Given the description of an element on the screen output the (x, y) to click on. 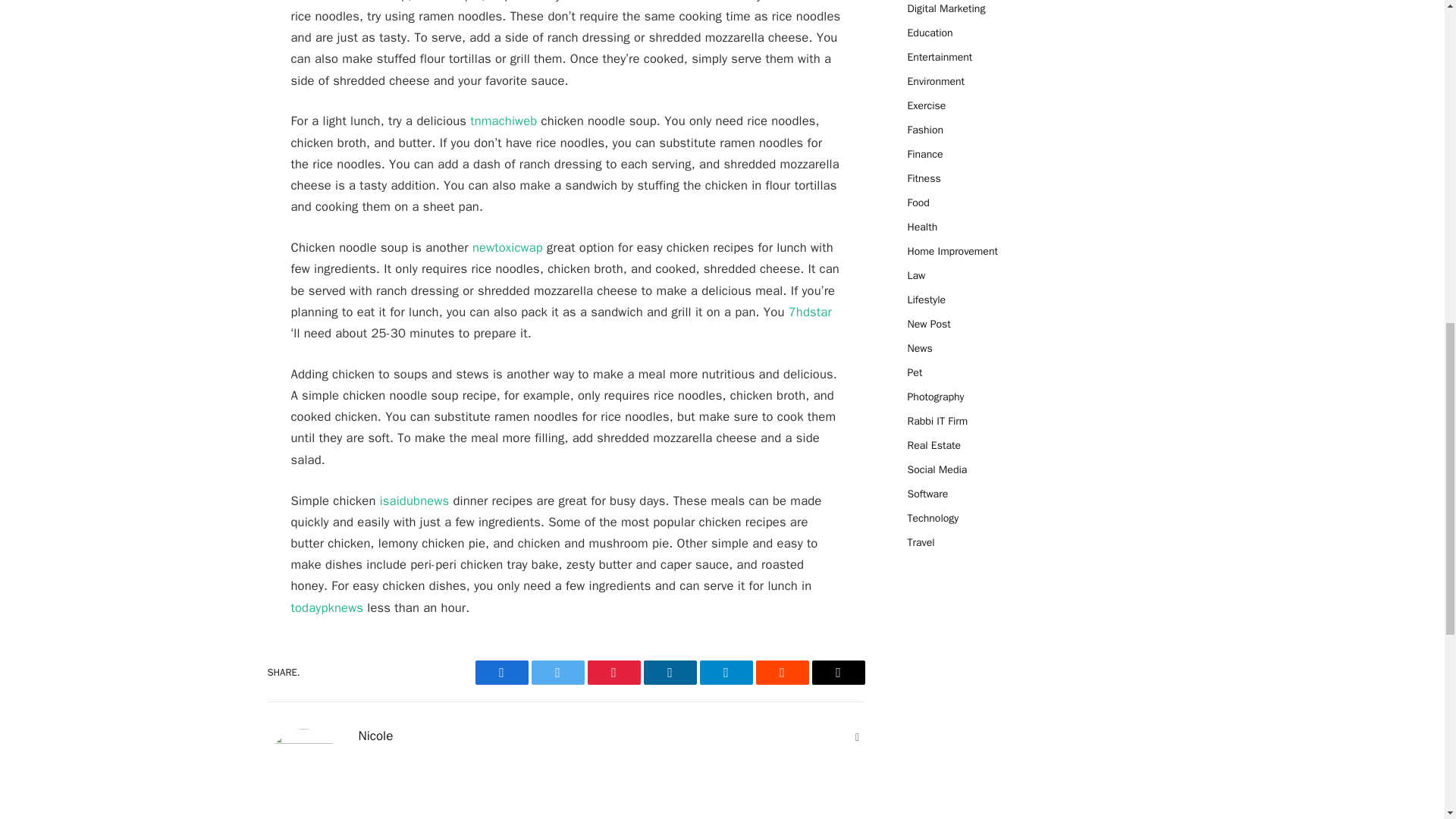
todaypknews (327, 607)
Facebook (500, 672)
Telegram (725, 672)
isaidubnews (414, 500)
Twitter (557, 672)
newtoxicwap (507, 247)
Pinterest (613, 672)
LinkedIn (669, 672)
7hdstar (810, 311)
tnmachiweb (503, 120)
